Given the description of an element on the screen output the (x, y) to click on. 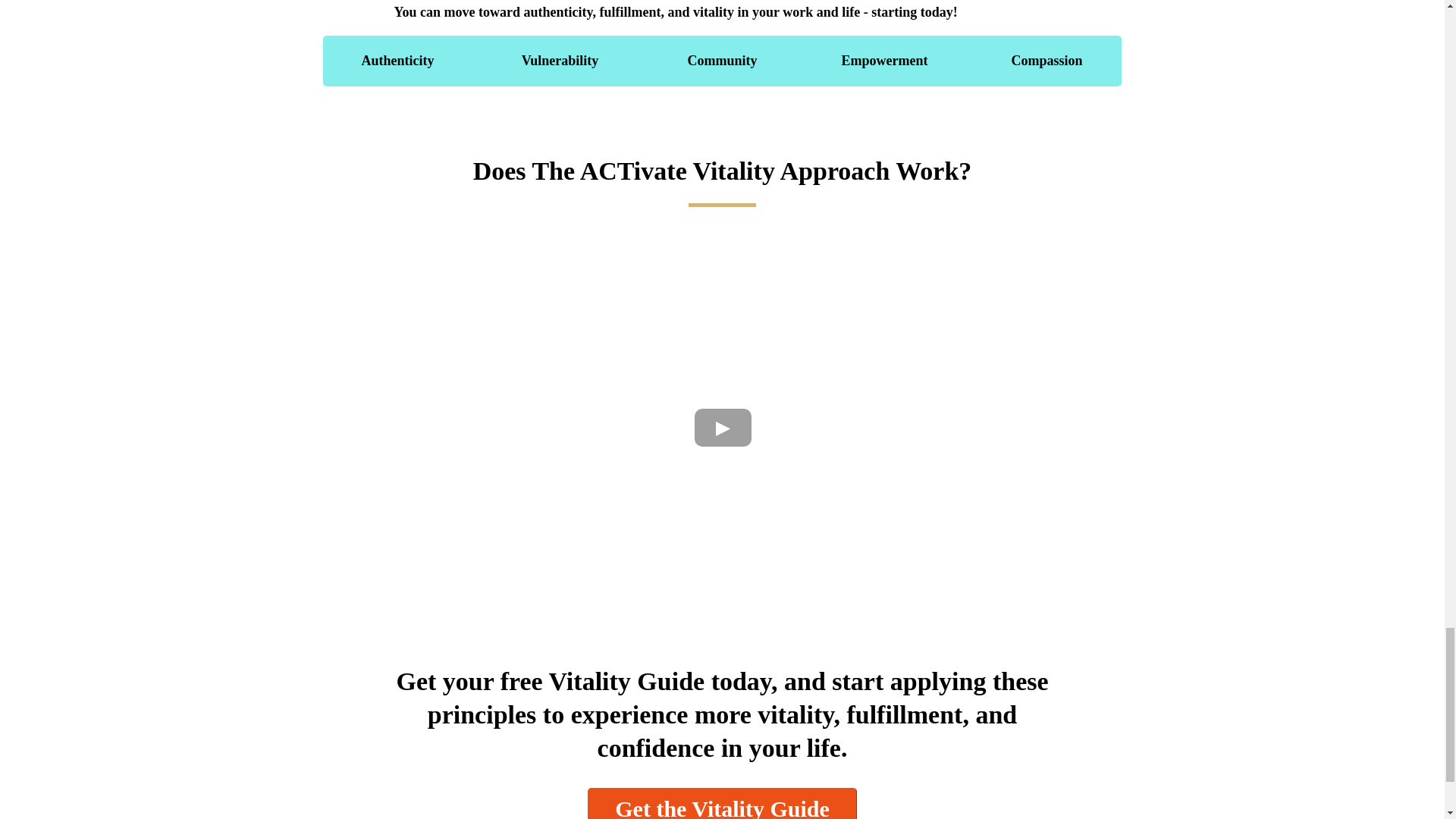
Get the Vitality Guide (722, 803)
